Given the description of an element on the screen output the (x, y) to click on. 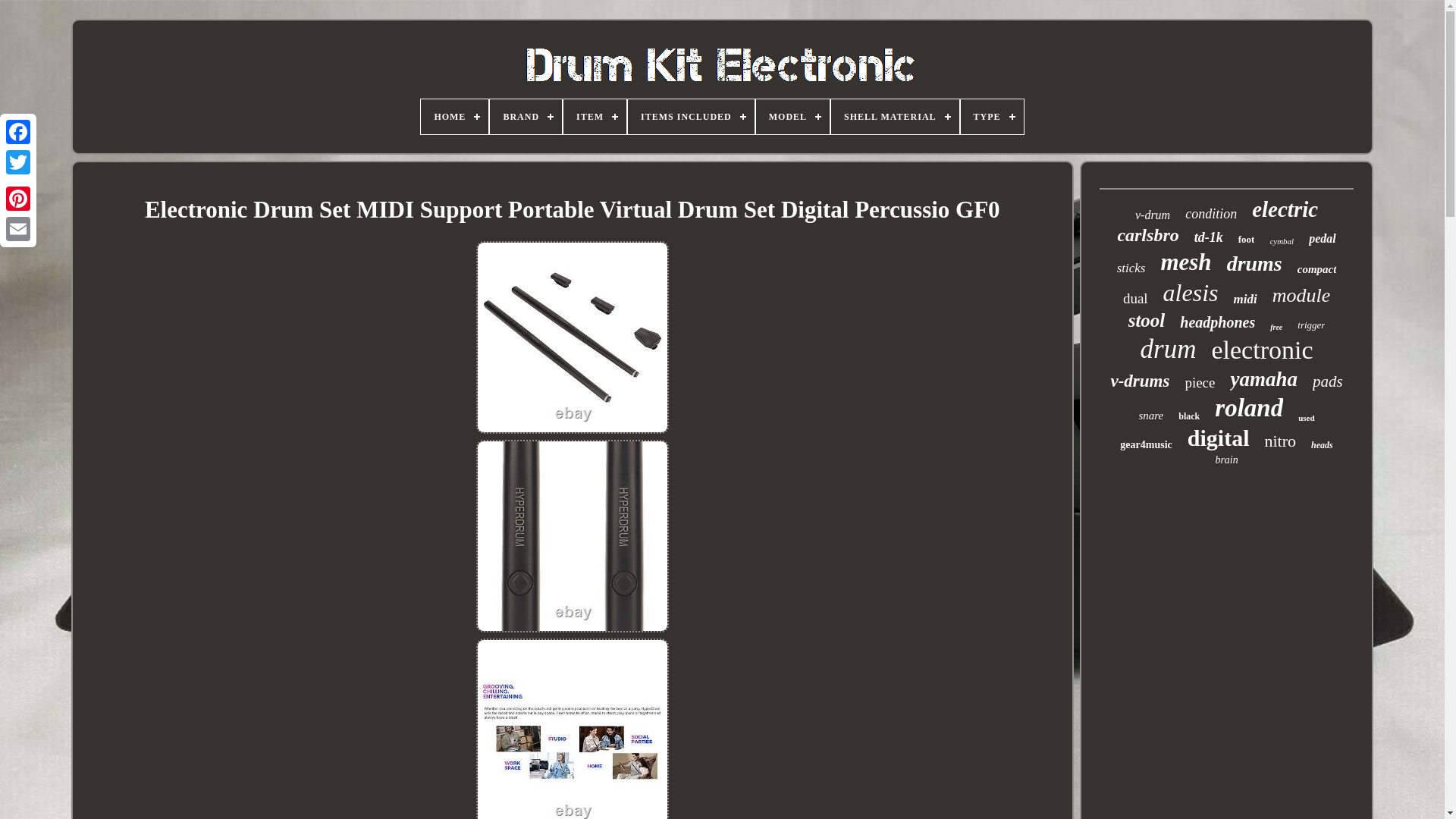
ITEM (594, 116)
ITEMS INCLUDED (690, 116)
BRAND (525, 116)
HOME (453, 116)
